Given the description of an element on the screen output the (x, y) to click on. 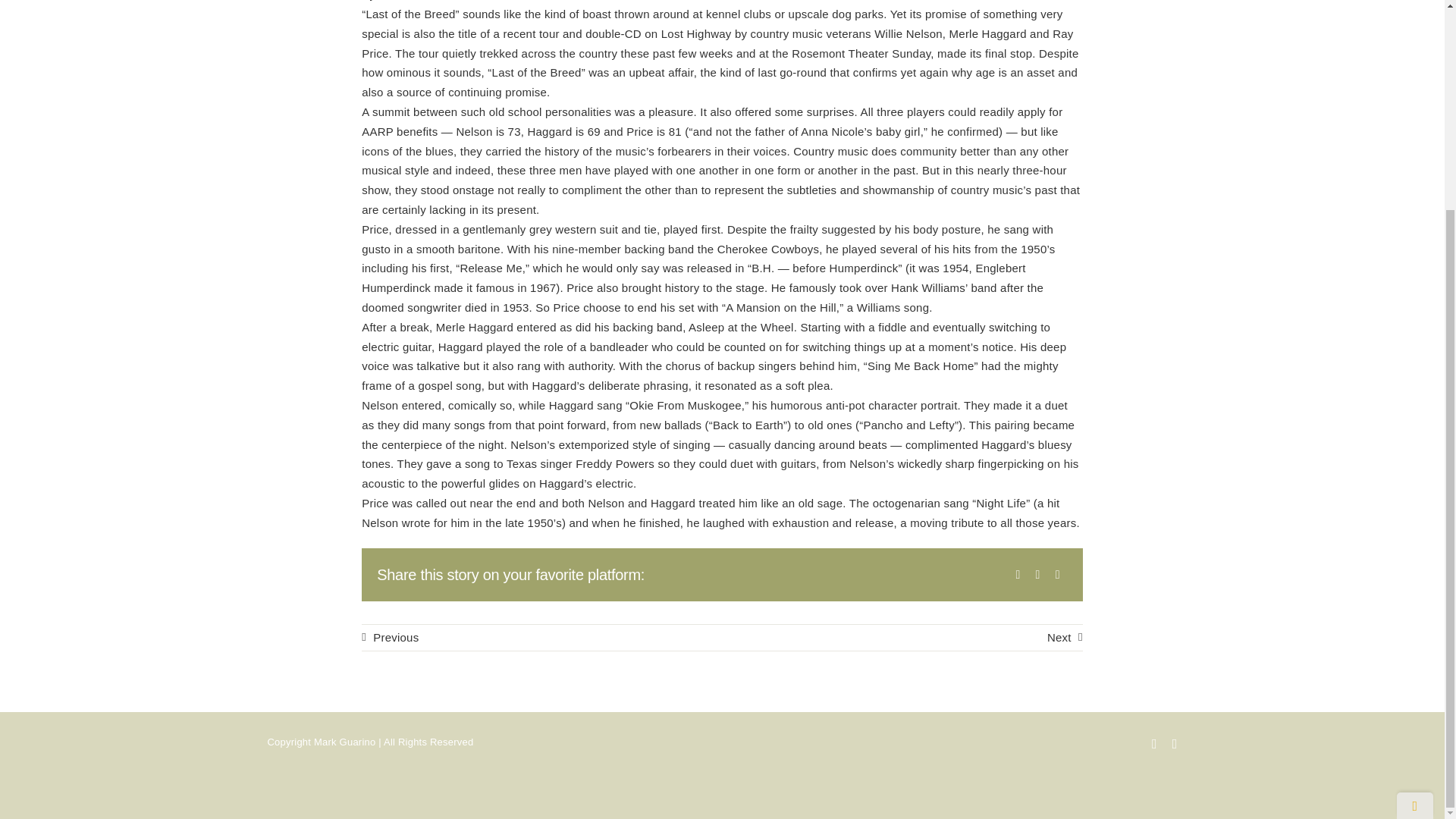
Next (1064, 636)
Previous (390, 636)
Toggle Sliding Bar Area (1414, 533)
